Given the description of an element on the screen output the (x, y) to click on. 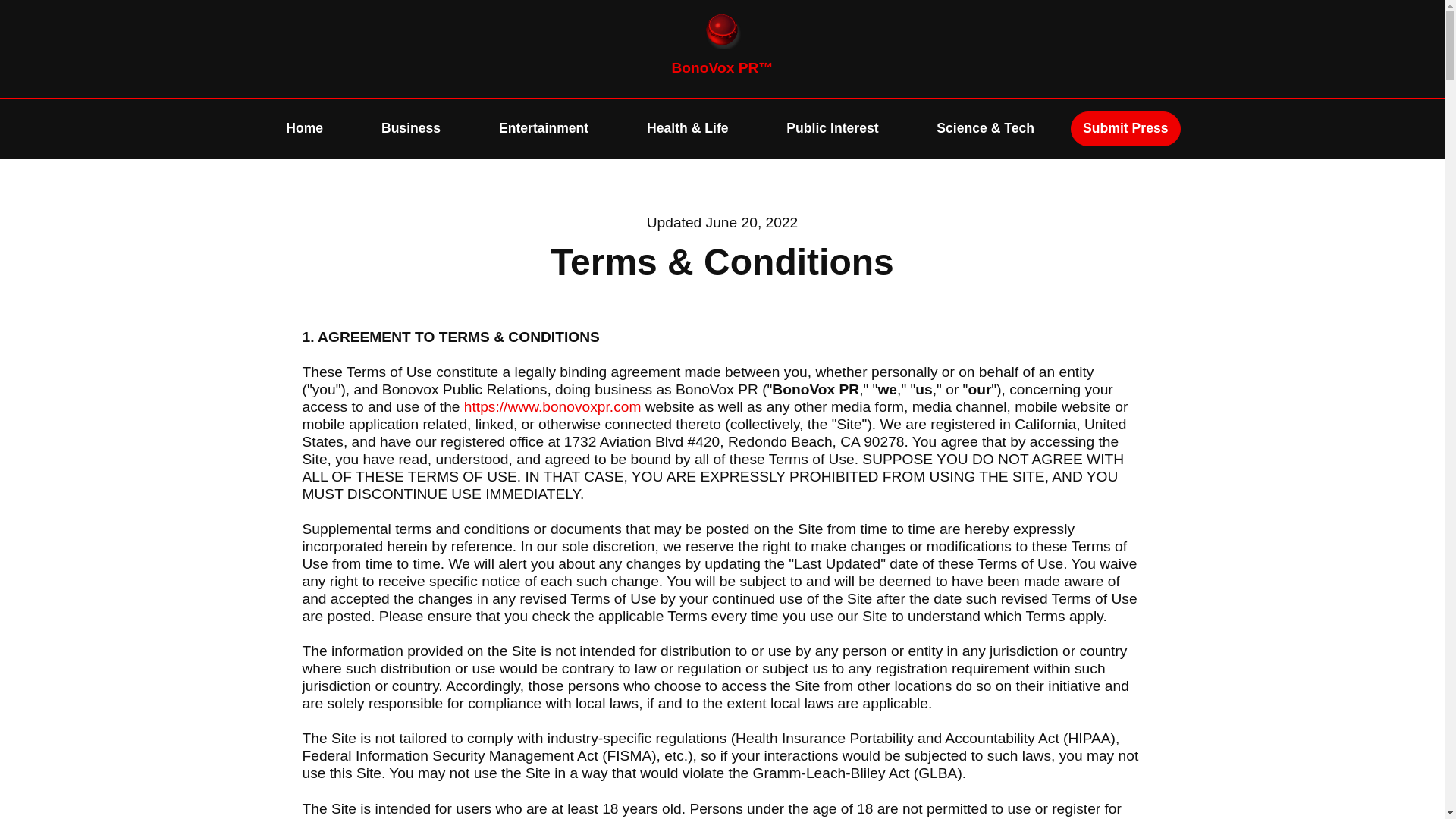
Entertainment (543, 128)
About (1155, 751)
Public Interest (831, 128)
Privacy (1398, 751)
Account (1272, 751)
Submit Press (1124, 128)
Help (1213, 751)
Home (304, 128)
Business (411, 128)
Terms (1335, 751)
